Given the description of an element on the screen output the (x, y) to click on. 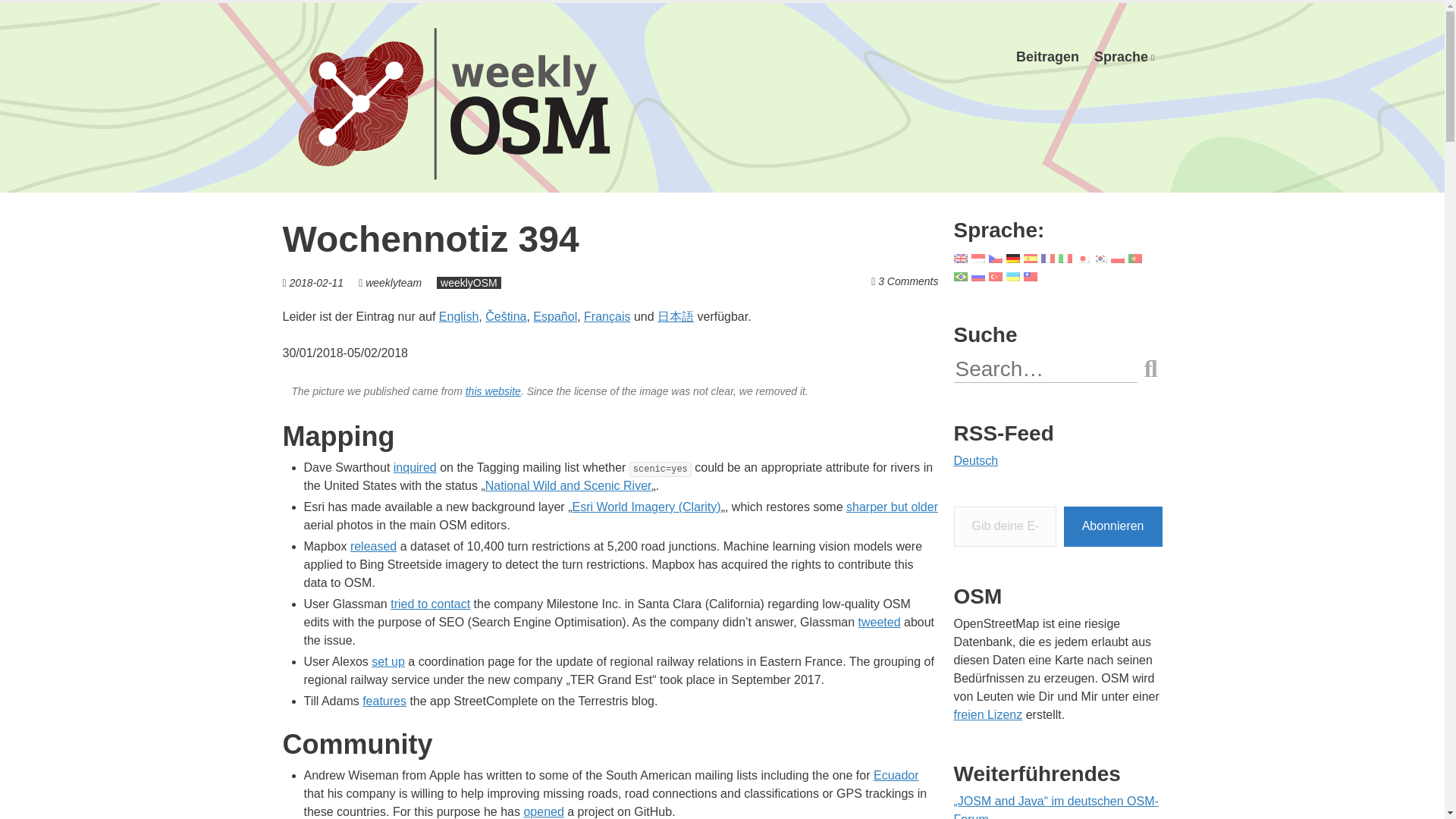
set up (387, 661)
sharper but older (891, 506)
Sprache (1123, 57)
weeklyOSM (468, 282)
Deutsch (1123, 57)
2018-02-11 (316, 282)
Beitragen (1047, 57)
released (373, 545)
3 Comments (907, 281)
tried to contact (430, 603)
English (459, 316)
weeklyteam (393, 282)
National Wild and Scenic River (568, 485)
tweeted (880, 621)
inquired (414, 467)
